Given the description of an element on the screen output the (x, y) to click on. 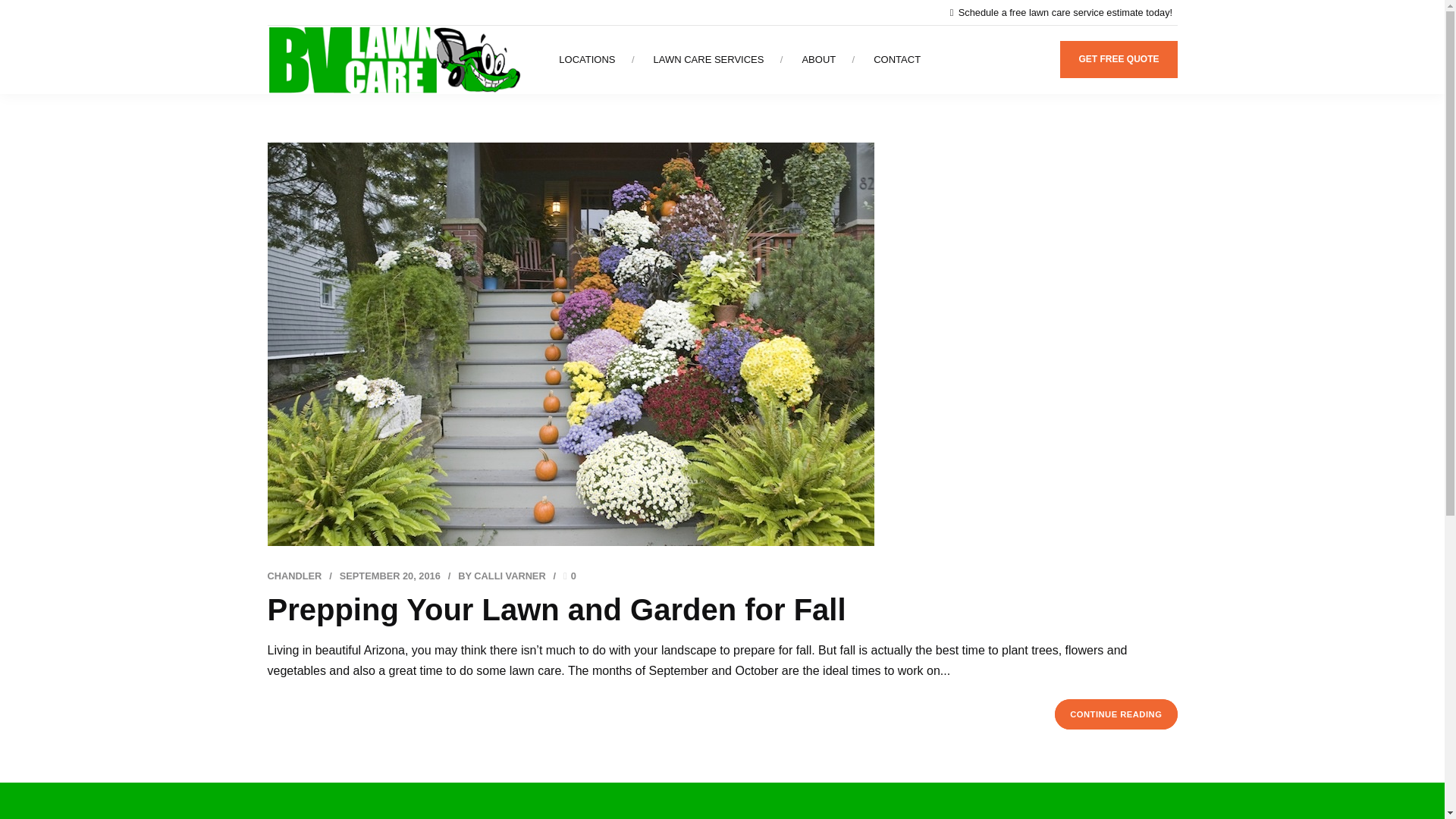
Prepping Your Lawn and Garden for Fall (555, 609)
BY CALLI VARNER (501, 575)
Schedule a free lawn care service estimate today! (1063, 12)
CHANDLER (293, 575)
Prepping Your Lawn and Garden for Fall (555, 609)
CONTINUE READING (1115, 714)
GET FREE QUOTE (1117, 58)
CONTINUE READING (1115, 714)
0 (569, 575)
LAWN CARE SERVICES (708, 59)
